Given the description of an element on the screen output the (x, y) to click on. 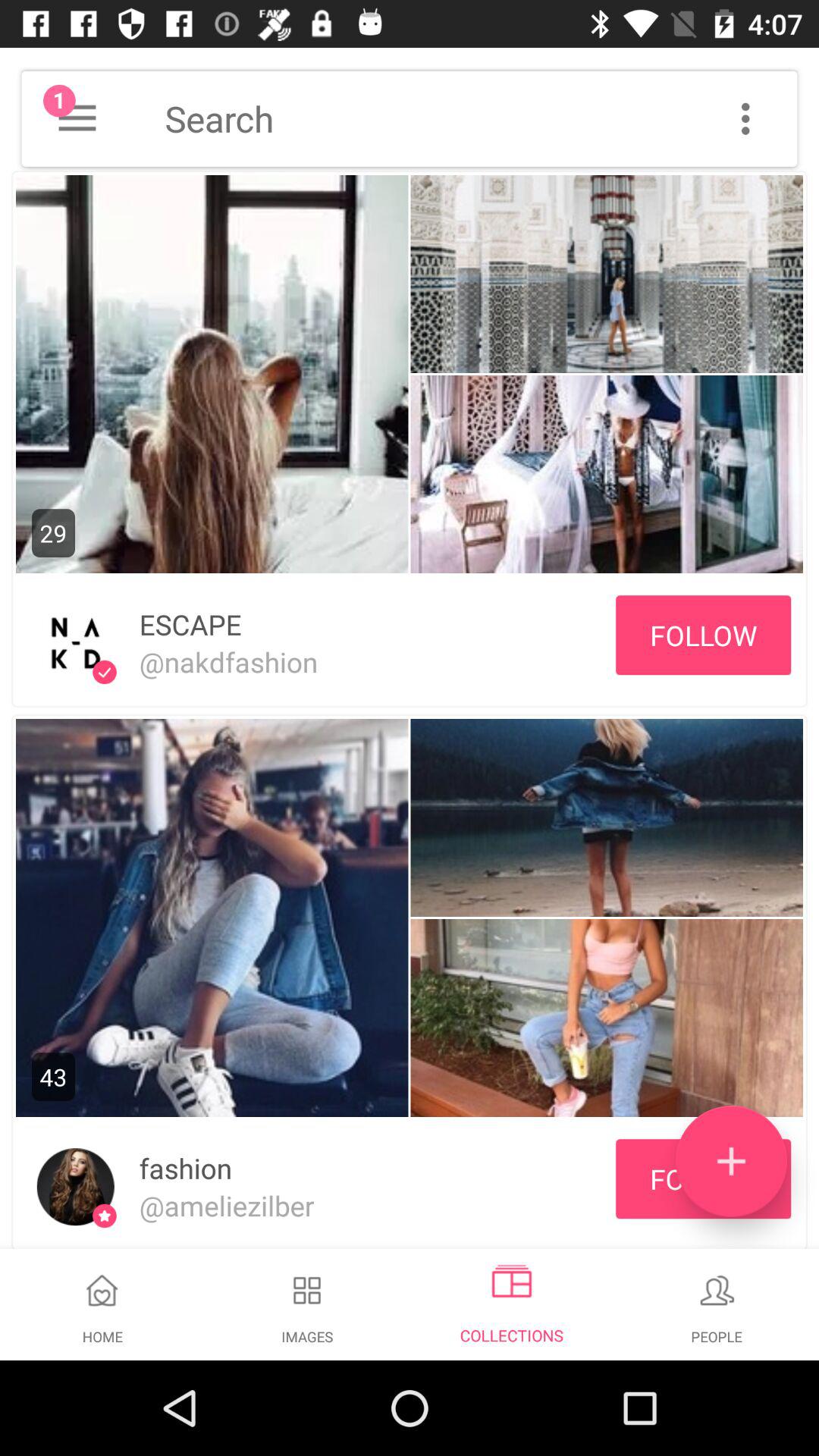
switch add option (731, 1161)
